Given the description of an element on the screen output the (x, y) to click on. 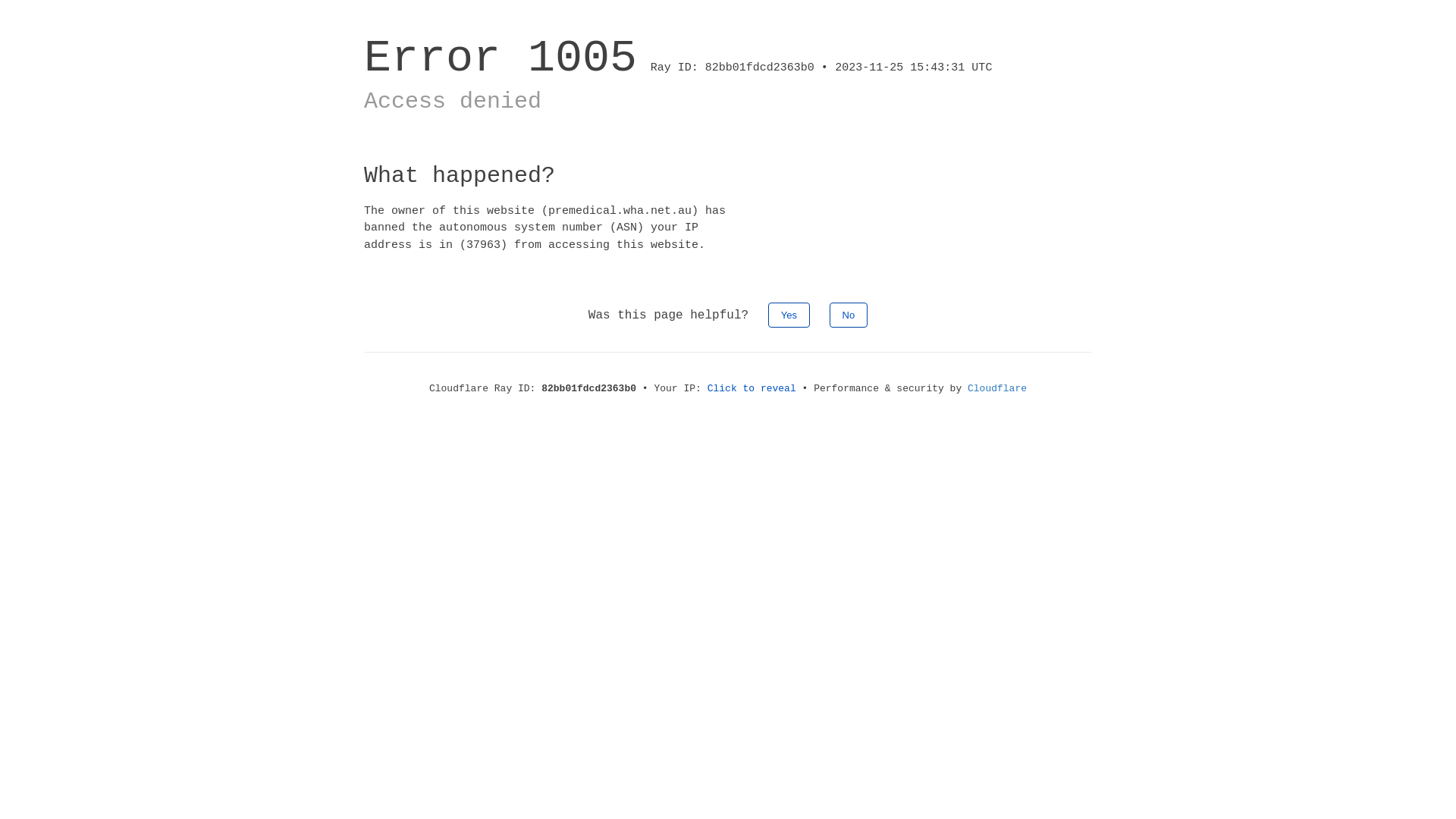
Cloudflare Element type: text (996, 388)
No Element type: text (848, 314)
Yes Element type: text (788, 314)
Click to reveal Element type: text (751, 388)
